Given the description of an element on the screen output the (x, y) to click on. 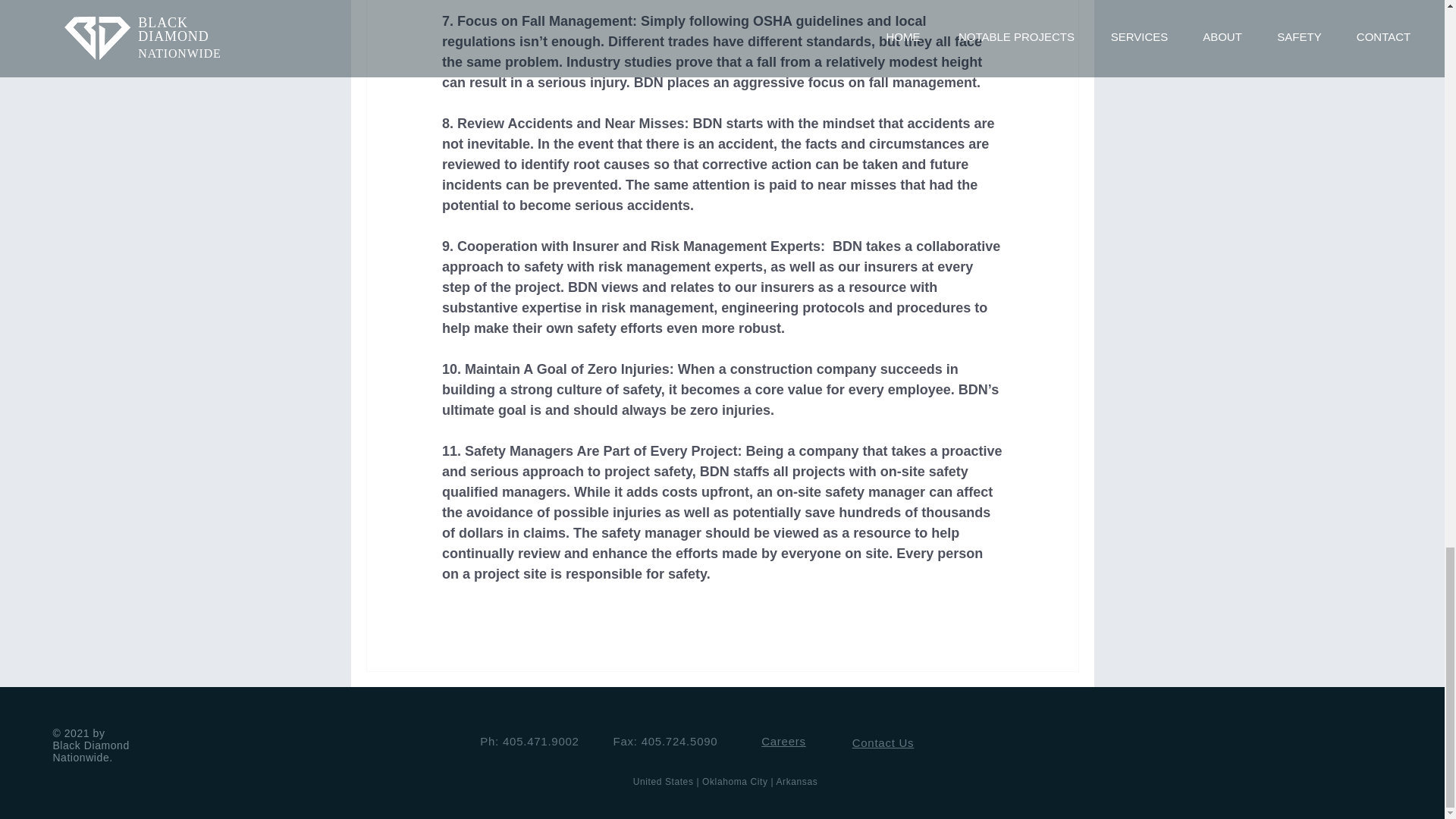
Contact Us (882, 742)
Careers (783, 740)
